Given the description of an element on the screen output the (x, y) to click on. 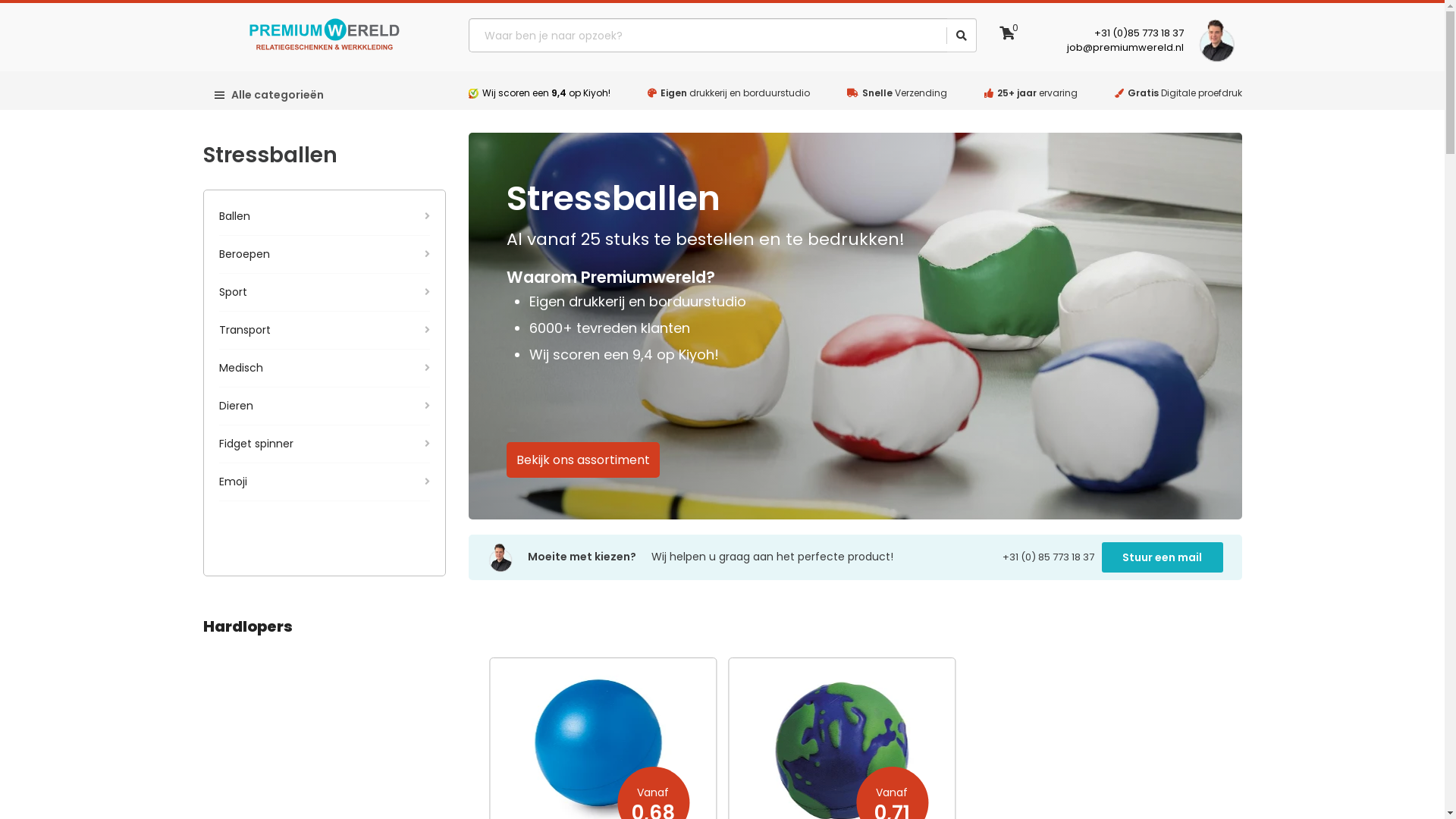
Dieren Element type: text (323, 405)
Ballen Element type: text (323, 216)
Medisch Element type: text (323, 367)
+31 (0) 85 773 18 37 Element type: text (1051, 557)
Fidget spinner Element type: text (323, 443)
divider Element type: hover (946, 35)
Beroepen Element type: text (323, 254)
Stuur een mail Element type: text (1161, 557)
Transport Element type: text (323, 329)
+31 (0)85 773 18 37 Element type: text (1138, 32)
Bekijk ons assortiment Element type: text (582, 459)
Wij scoren een 9,4 op Kiyoh! Element type: text (546, 92)
Emoji Element type: text (323, 481)
job@premiumwereld.nl Element type: text (1124, 47)
Sport Element type: text (323, 291)
